Given the description of an element on the screen output the (x, y) to click on. 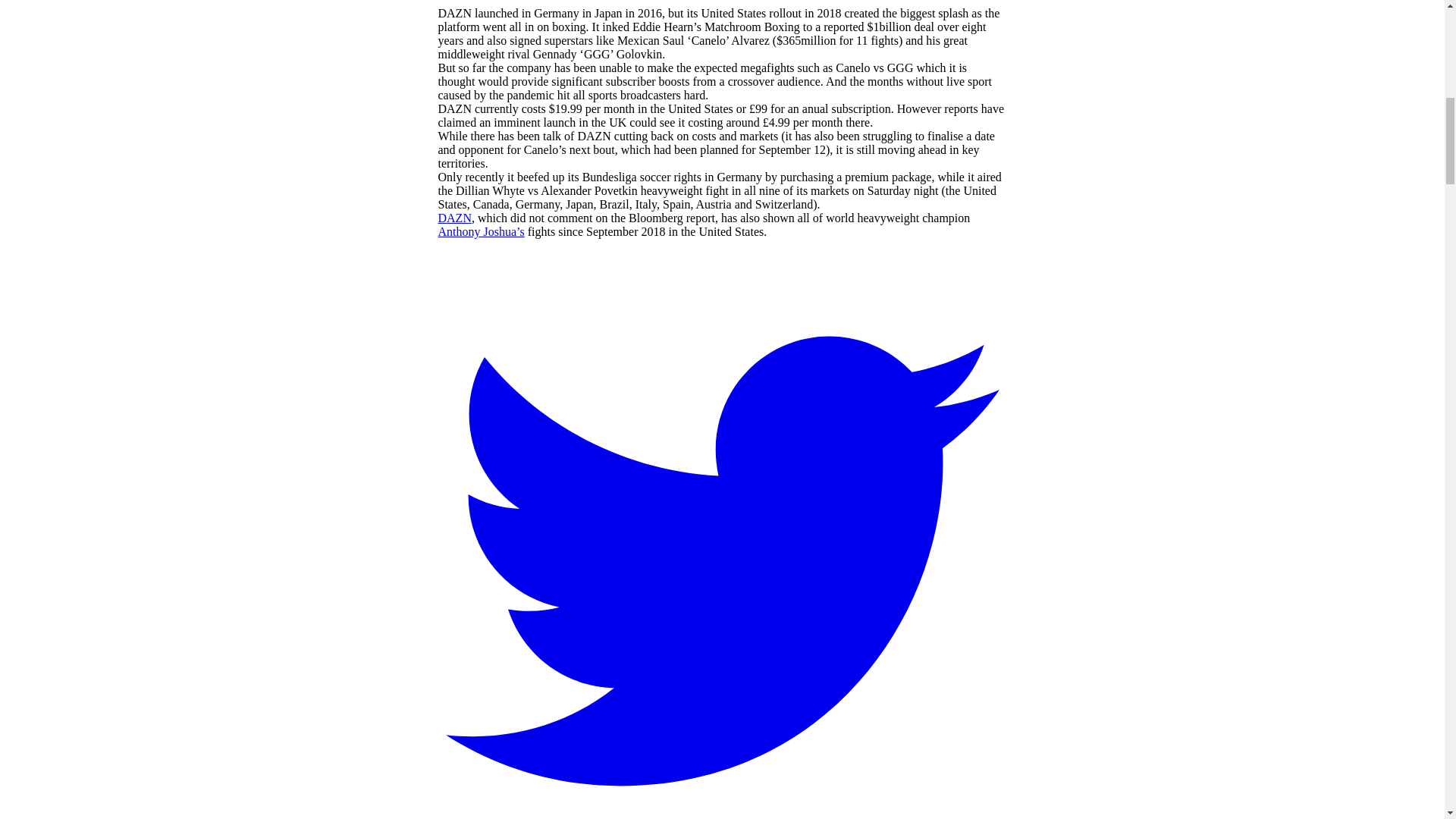
DAZN (454, 217)
